Given the description of an element on the screen output the (x, y) to click on. 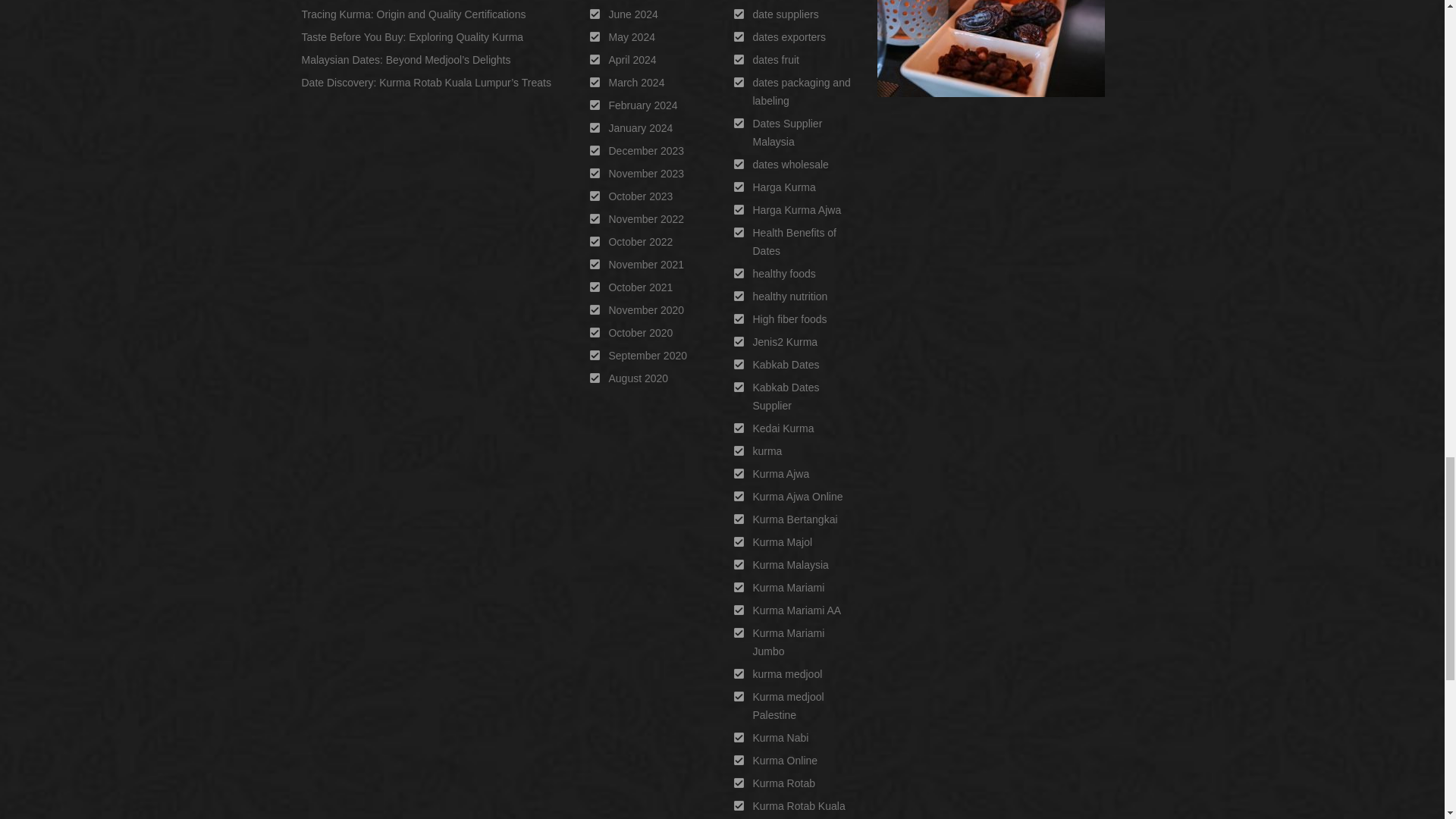
October 2021 (640, 287)
February 2024 (642, 105)
date suppliers (785, 14)
October 2020 (640, 332)
August 2020 (638, 378)
November 2022 (646, 218)
dates exporters (788, 37)
November 2023 (646, 173)
Harga Kurma (783, 186)
June 2024 (633, 14)
